Given the description of an element on the screen output the (x, y) to click on. 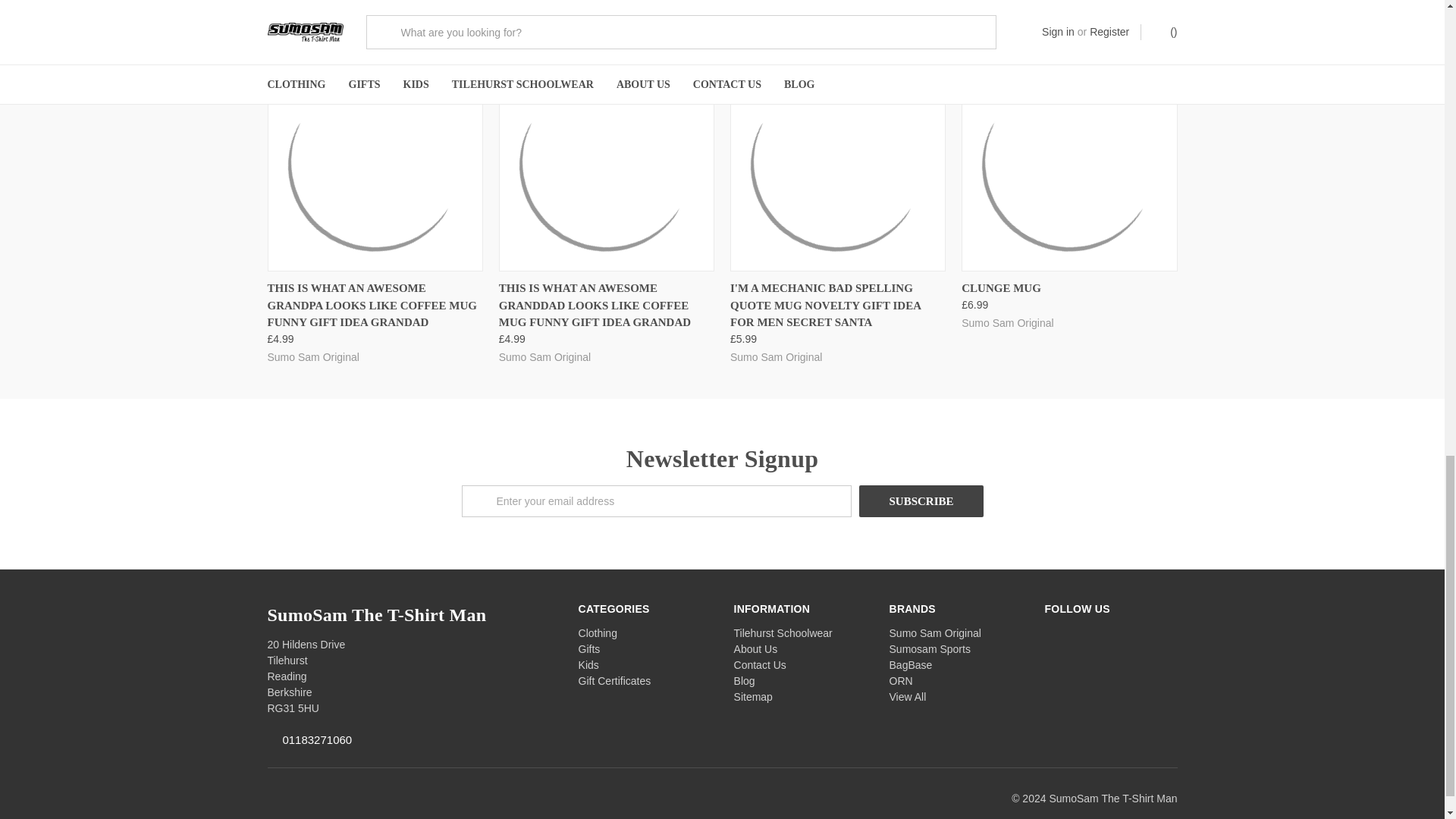
Subscribe (920, 500)
Clunge Mug Novelty Gift Idea Christmas Secret Santa (1069, 163)
I fix cars Mechanic Mekanic bad spelling mug (837, 163)
